Given the description of an element on the screen output the (x, y) to click on. 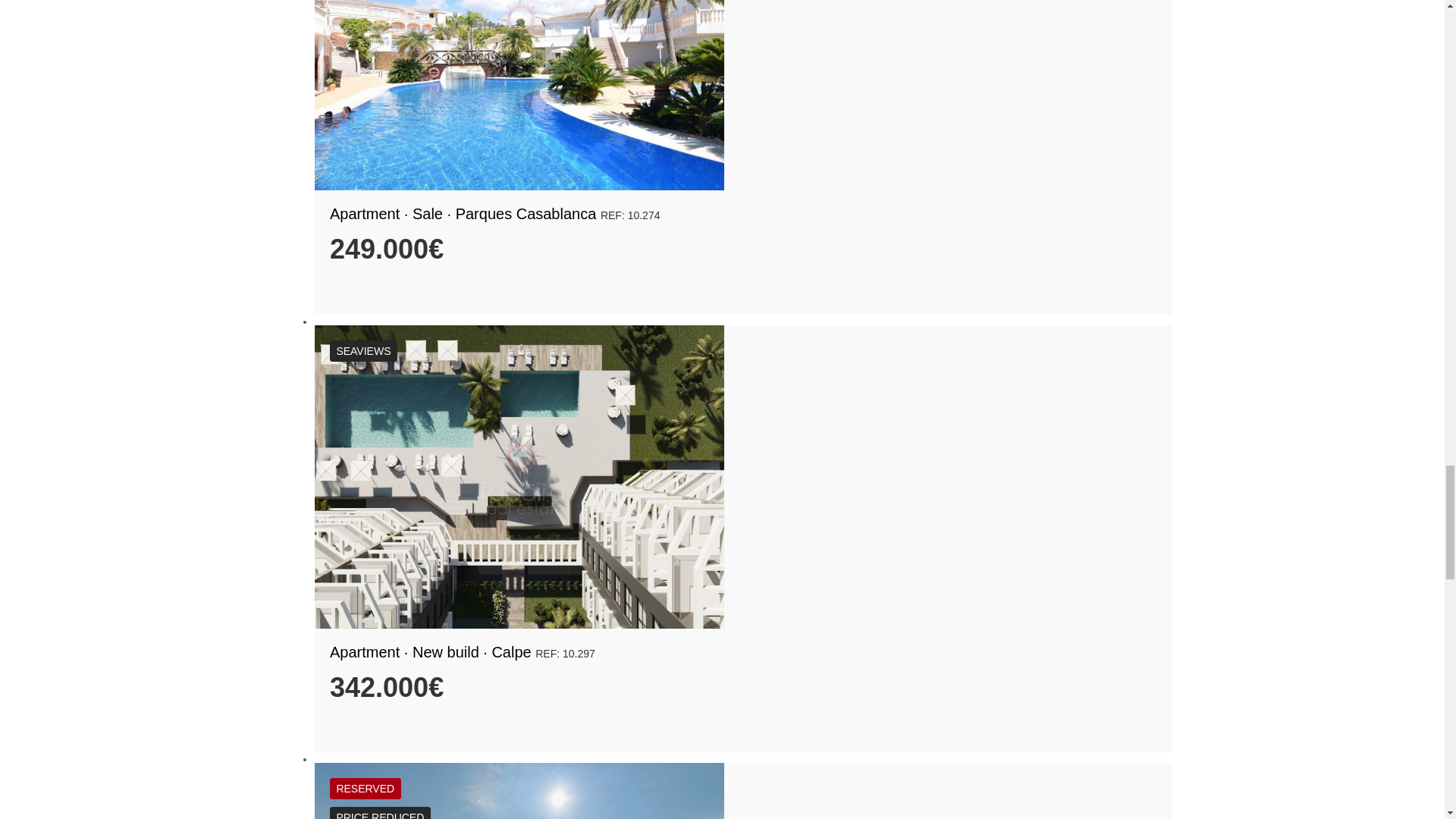
Apartment - Sale - Benissa - Parques Casablanca (518, 95)
Apartment - New build  - Calpe - Calpe (518, 476)
Finca - Sale - Benissa - Canor (518, 790)
